Given the description of an element on the screen output the (x, y) to click on. 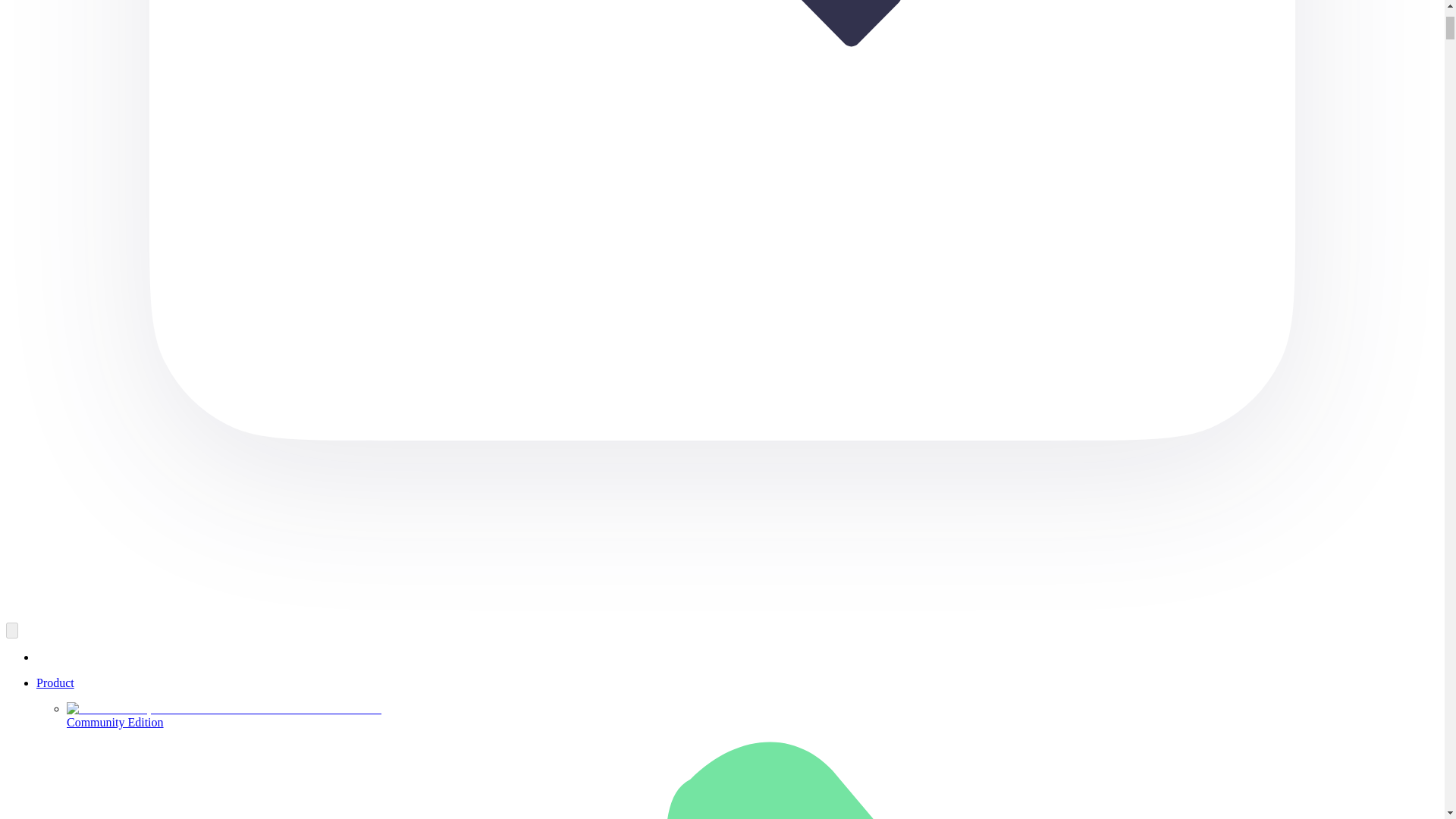
Product (55, 682)
